Given the description of an element on the screen output the (x, y) to click on. 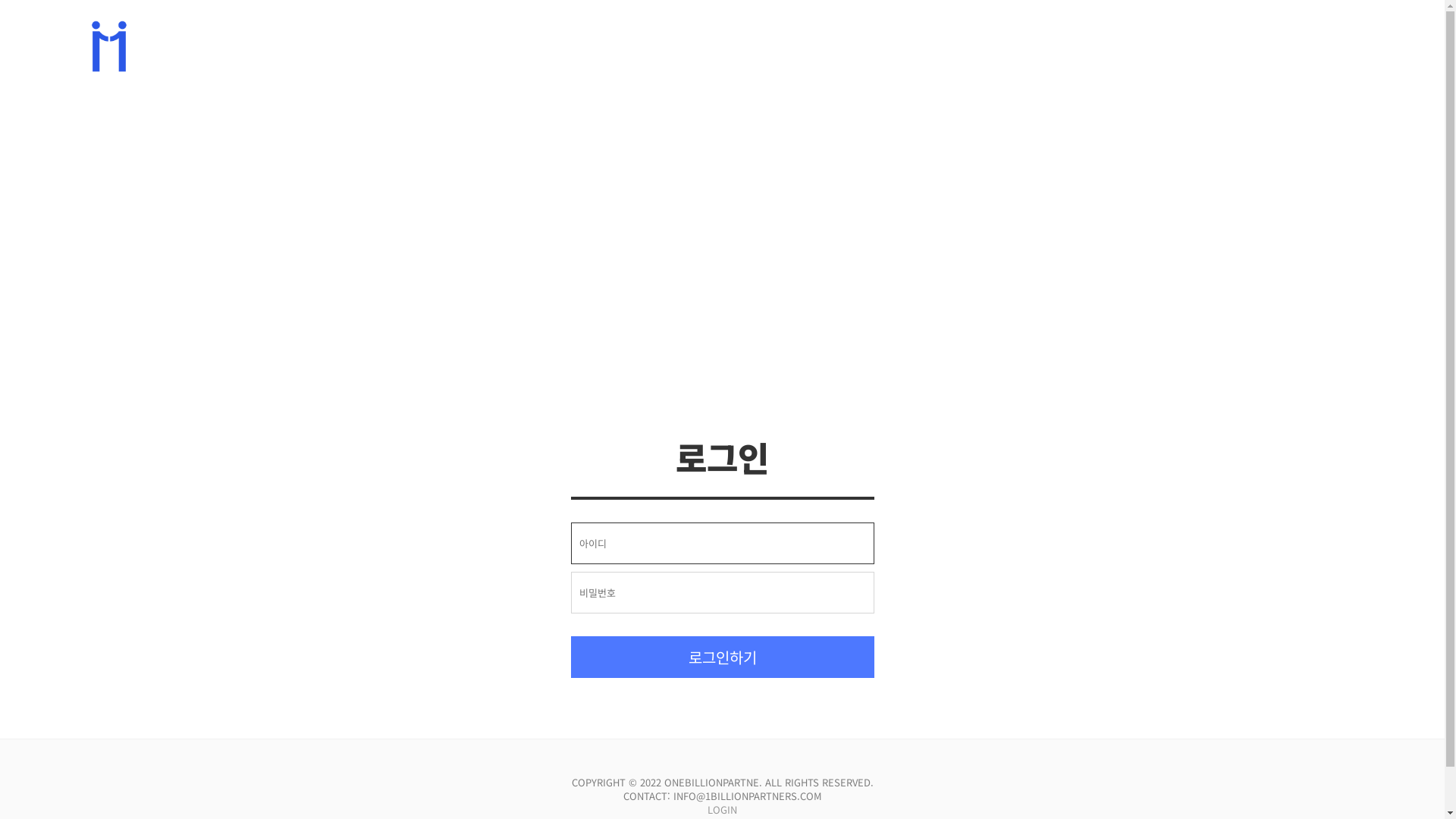
LOGIN Element type: text (722, 809)
